Given the description of an element on the screen output the (x, y) to click on. 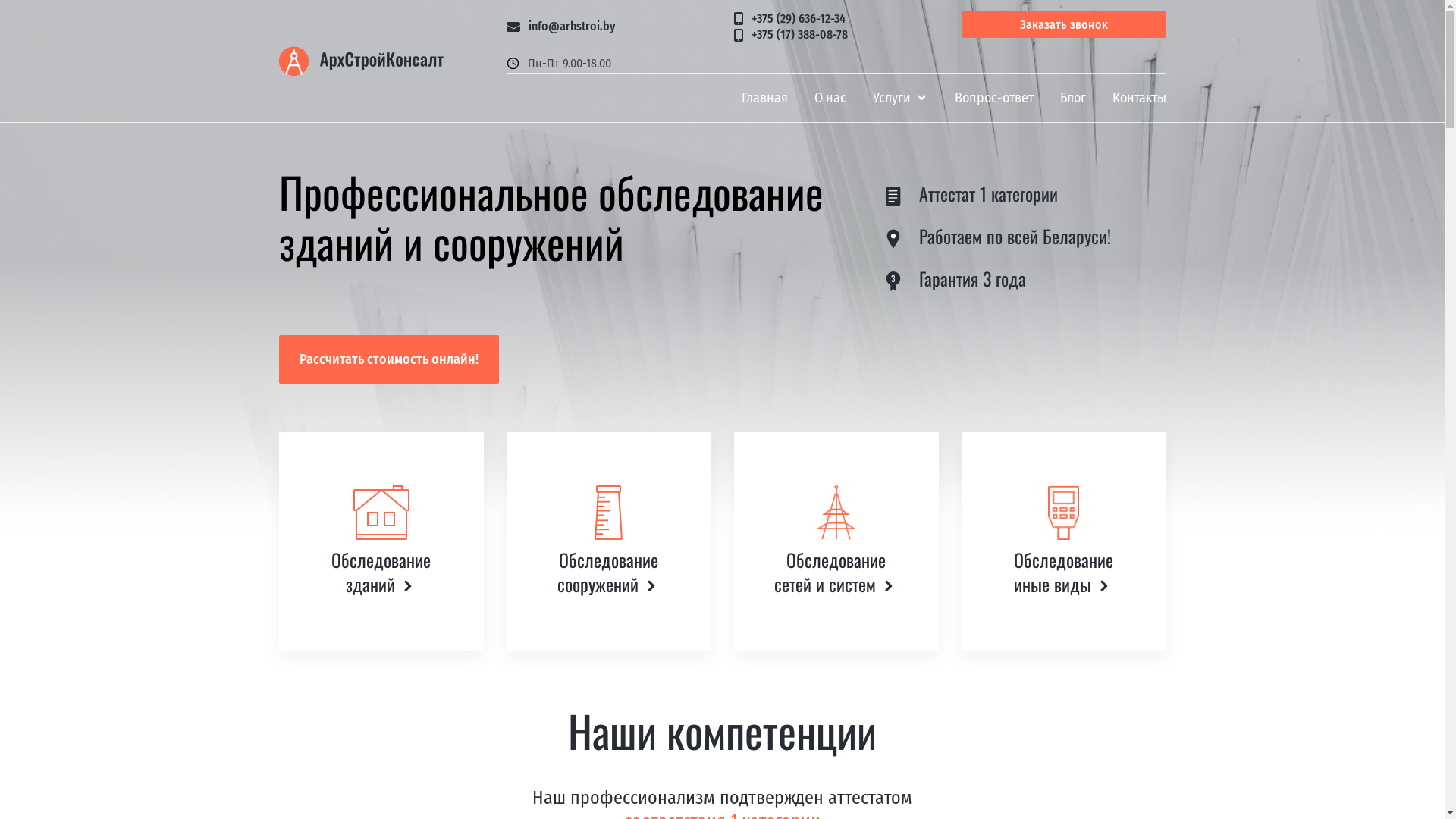
+375 (29) 636-12-34 Element type: text (836, 19)
info@arhstroi.by Element type: text (608, 26)
+375 (17) 388-08-78 Element type: text (836, 35)
